Given the description of an element on the screen output the (x, y) to click on. 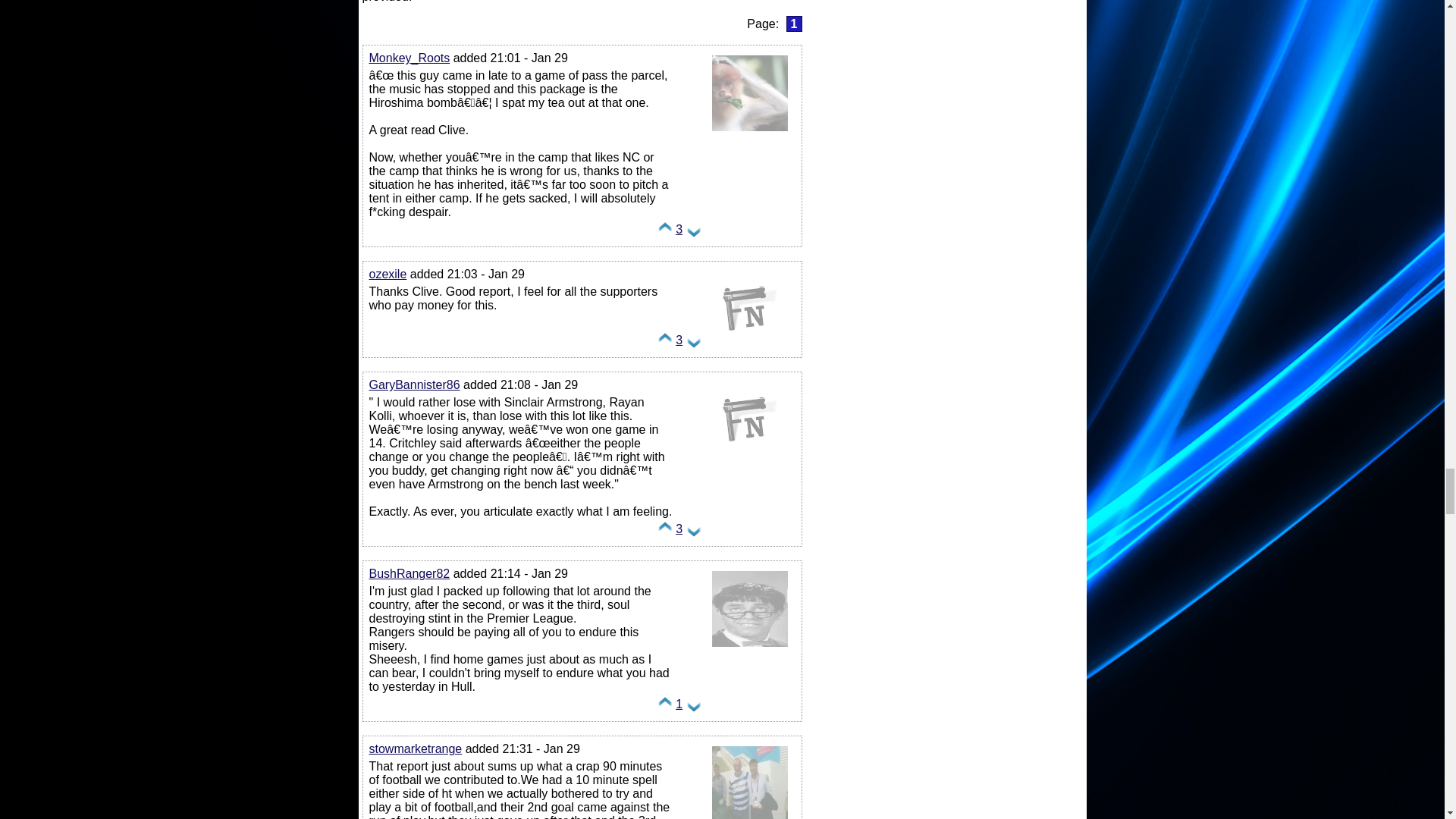
GaryBannister86 is offline (749, 457)
Click if you agree with this post (665, 707)
Click if you disagree with this post (692, 707)
Click if you disagree with this post (692, 532)
Click if you agree with this post (665, 532)
ozexile is offline (749, 346)
Click if you agree with this post (665, 232)
Click if you agree with this post (665, 343)
BushRanger82 is offline (749, 645)
stowmarketrange is offline (749, 816)
Click if you disagree with this post (692, 343)
Click if you disagree with this post (692, 232)
